Given the description of an element on the screen output the (x, y) to click on. 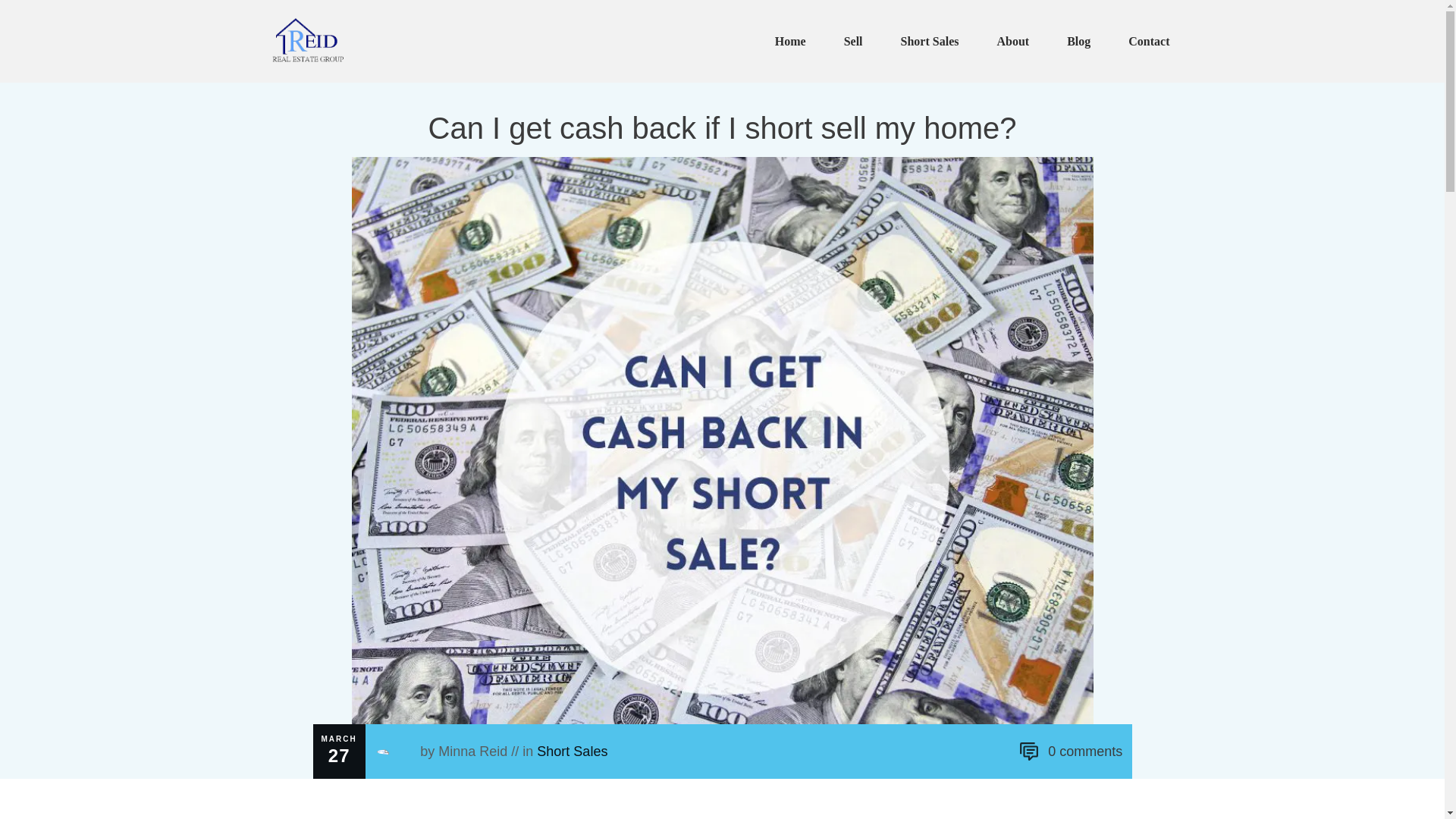
Minna Reid (472, 751)
About (1012, 40)
Blog (1078, 40)
Short Sales (572, 751)
Home (790, 40)
Contact (1148, 40)
Short Sales (930, 40)
Minna Reid (472, 751)
Short Sales (572, 751)
